Given the description of an element on the screen output the (x, y) to click on. 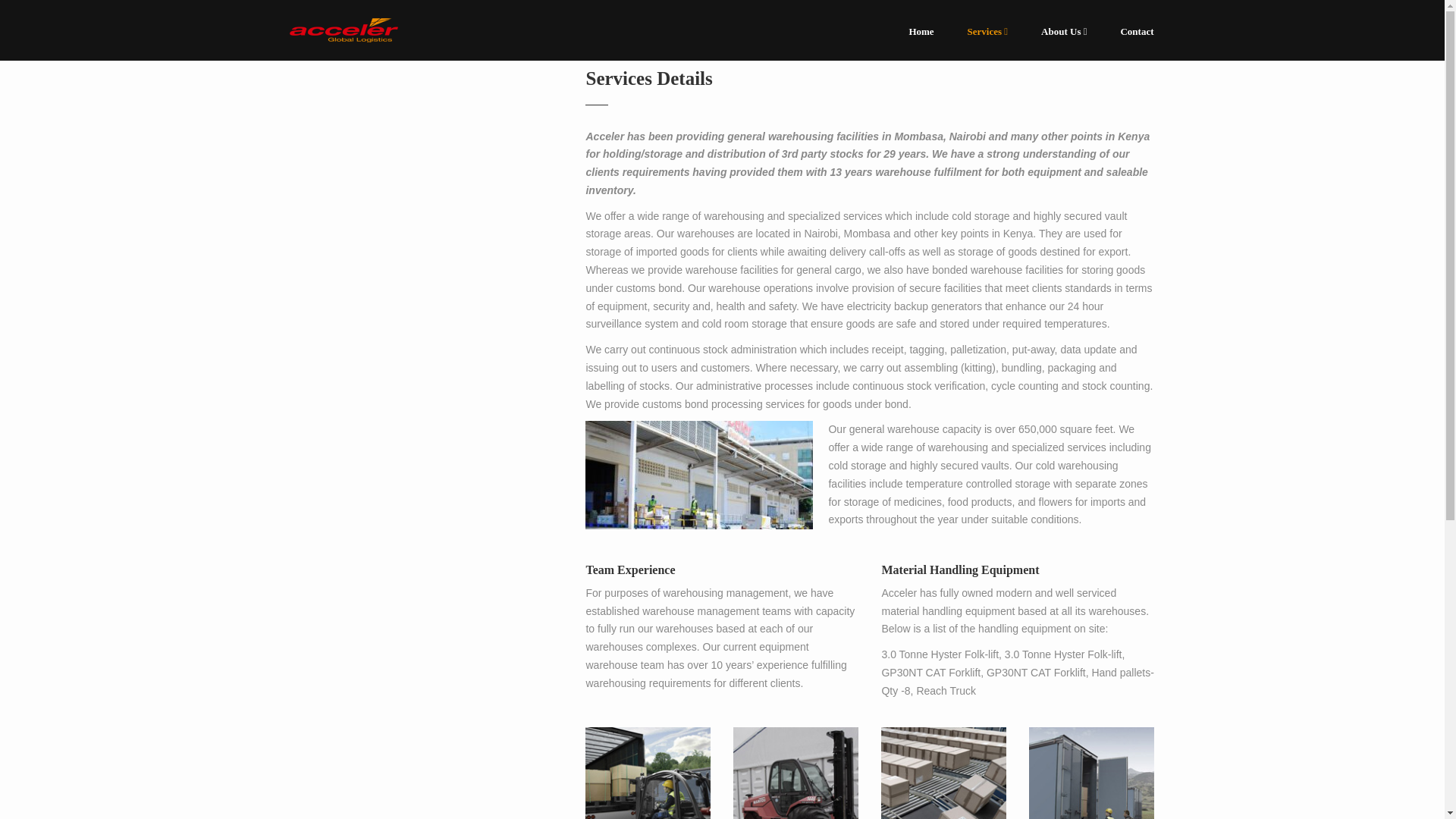
Services (987, 30)
Home (920, 30)
About Us (1064, 30)
Contact (1128, 30)
Services (987, 30)
Home (920, 30)
small-11 (796, 773)
small-12 (647, 773)
Contact (1128, 30)
About Us (1064, 30)
